Given the description of an element on the screen output the (x, y) to click on. 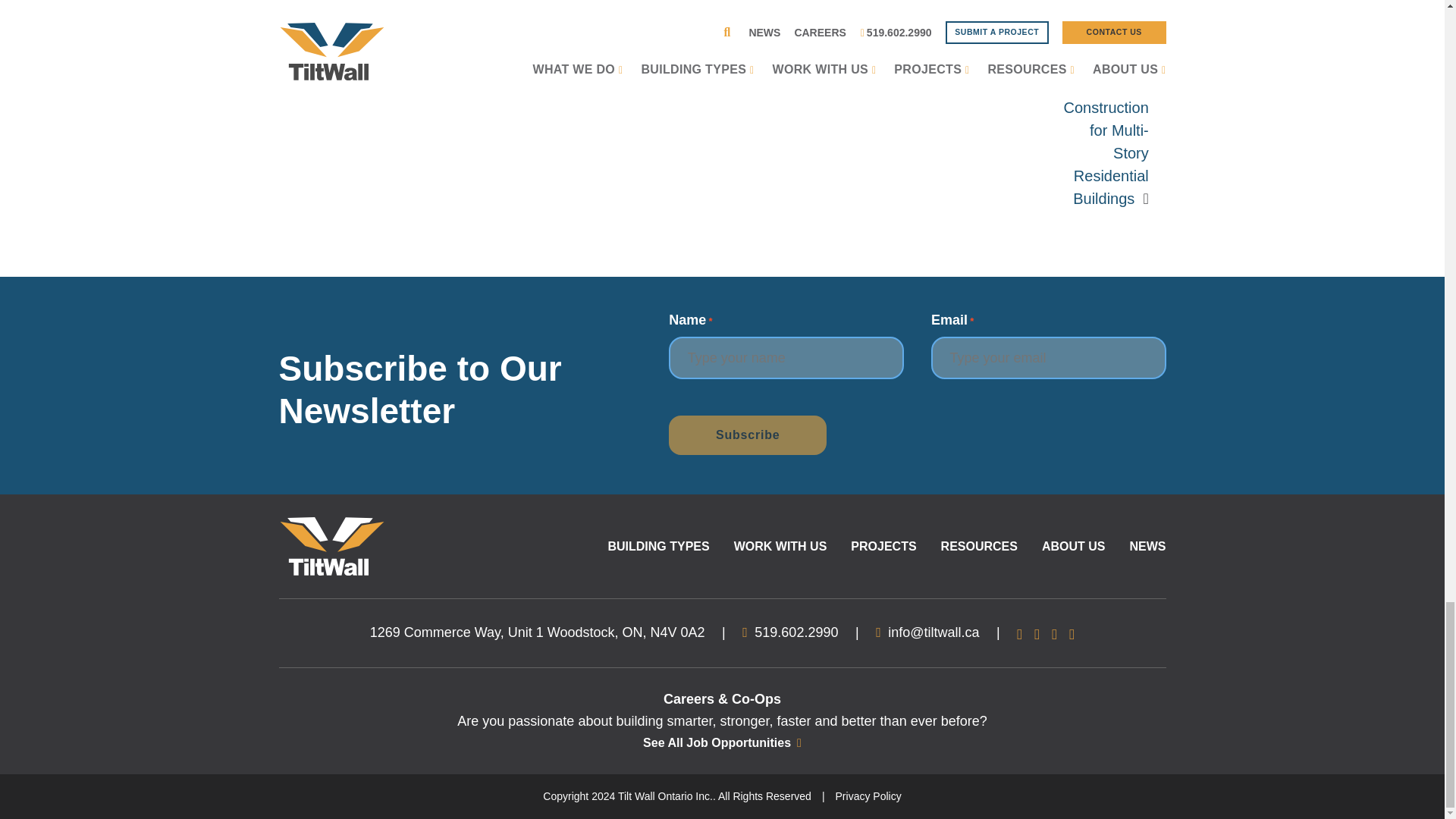
Subscribe (747, 435)
